Given the description of an element on the screen output the (x, y) to click on. 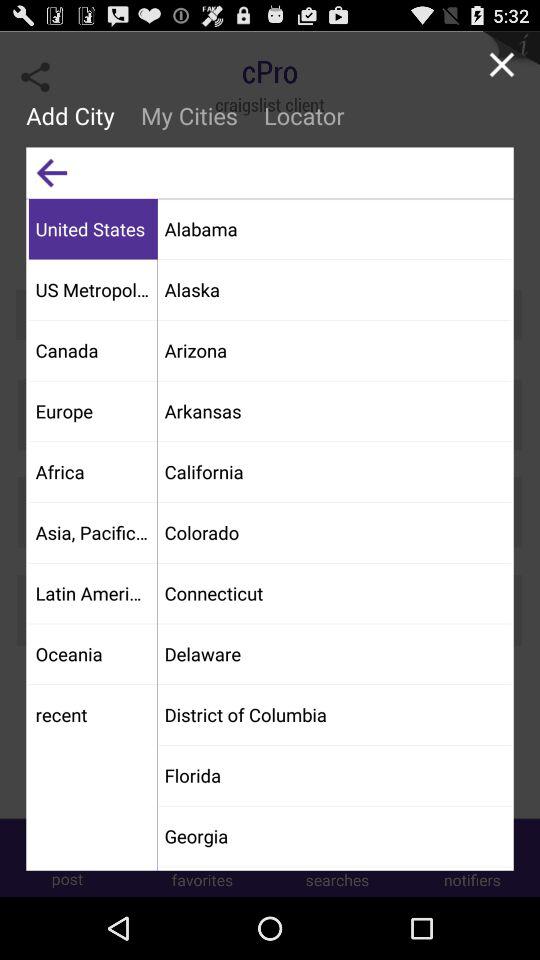
flip to the arkansas icon (334, 410)
